Given the description of an element on the screen output the (x, y) to click on. 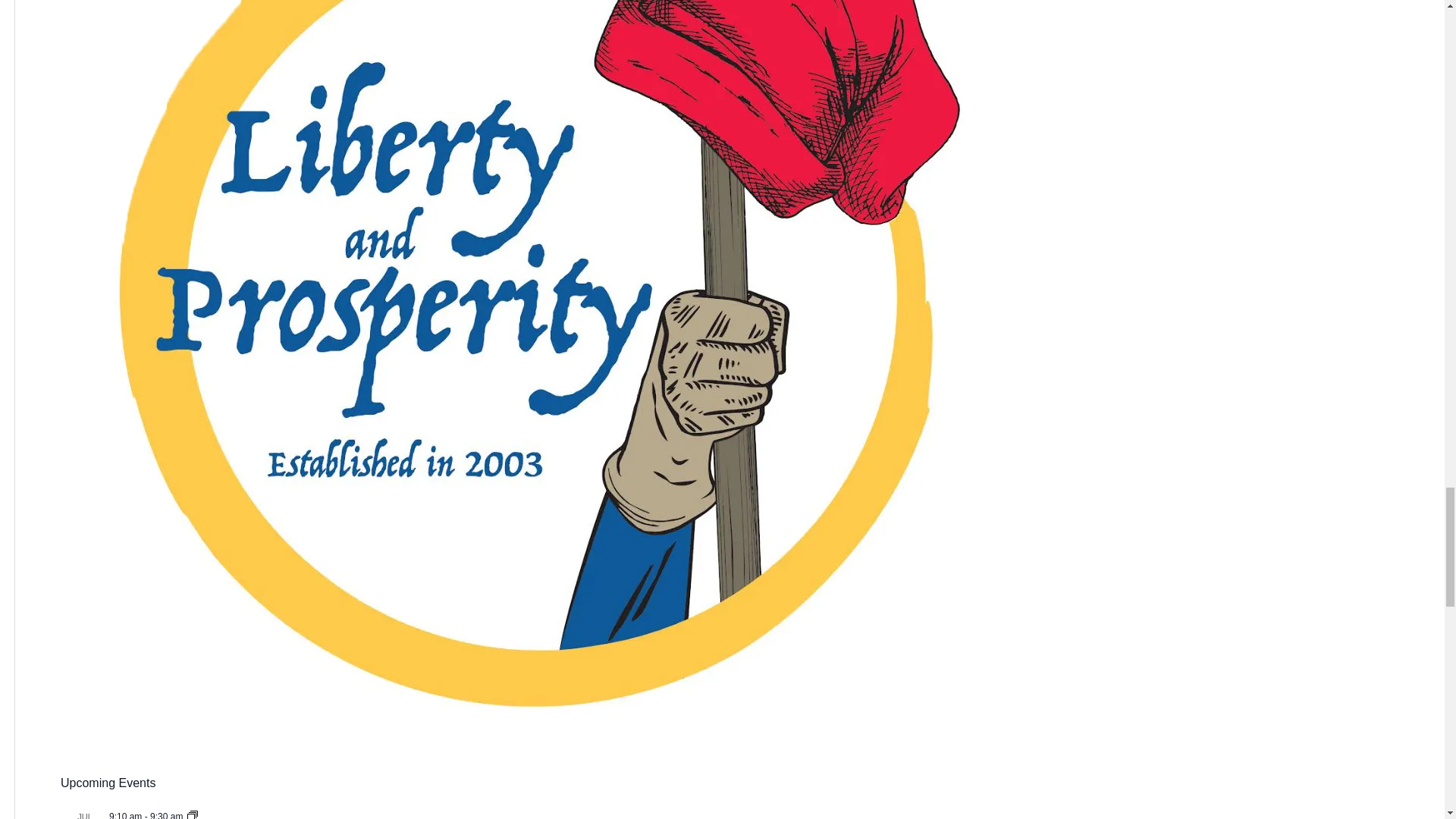
Event Series (192, 815)
Event Series (192, 814)
